Given the description of an element on the screen output the (x, y) to click on. 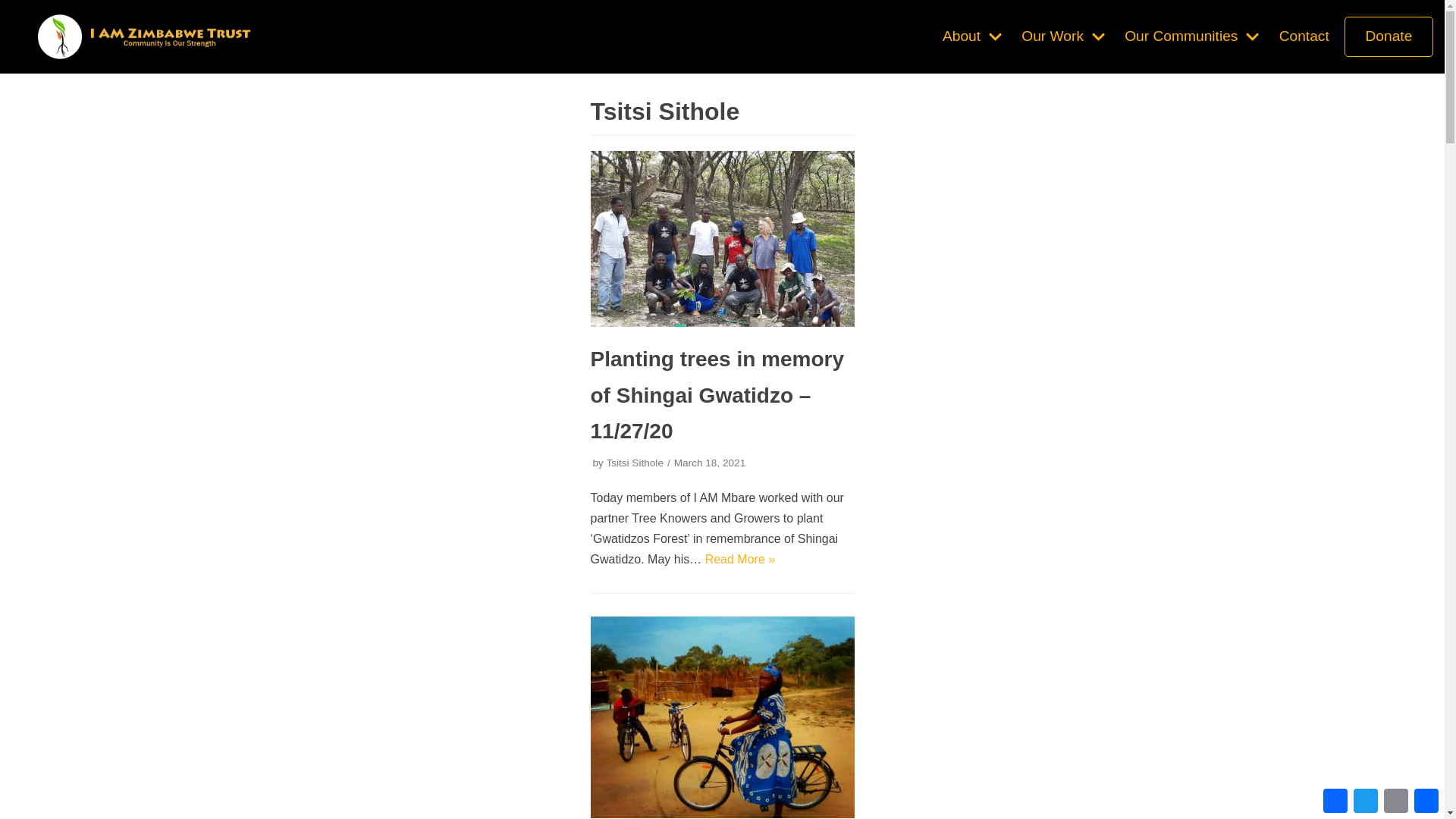
Skip to content (15, 7)
Our Communities (1193, 36)
Our Work (1065, 36)
Posts by Tsitsi Sithole (634, 462)
Contact (1304, 36)
I AM Zimbabwe Trust (143, 36)
About (974, 36)
     Donate      (1388, 36)
